Given the description of an element on the screen output the (x, y) to click on. 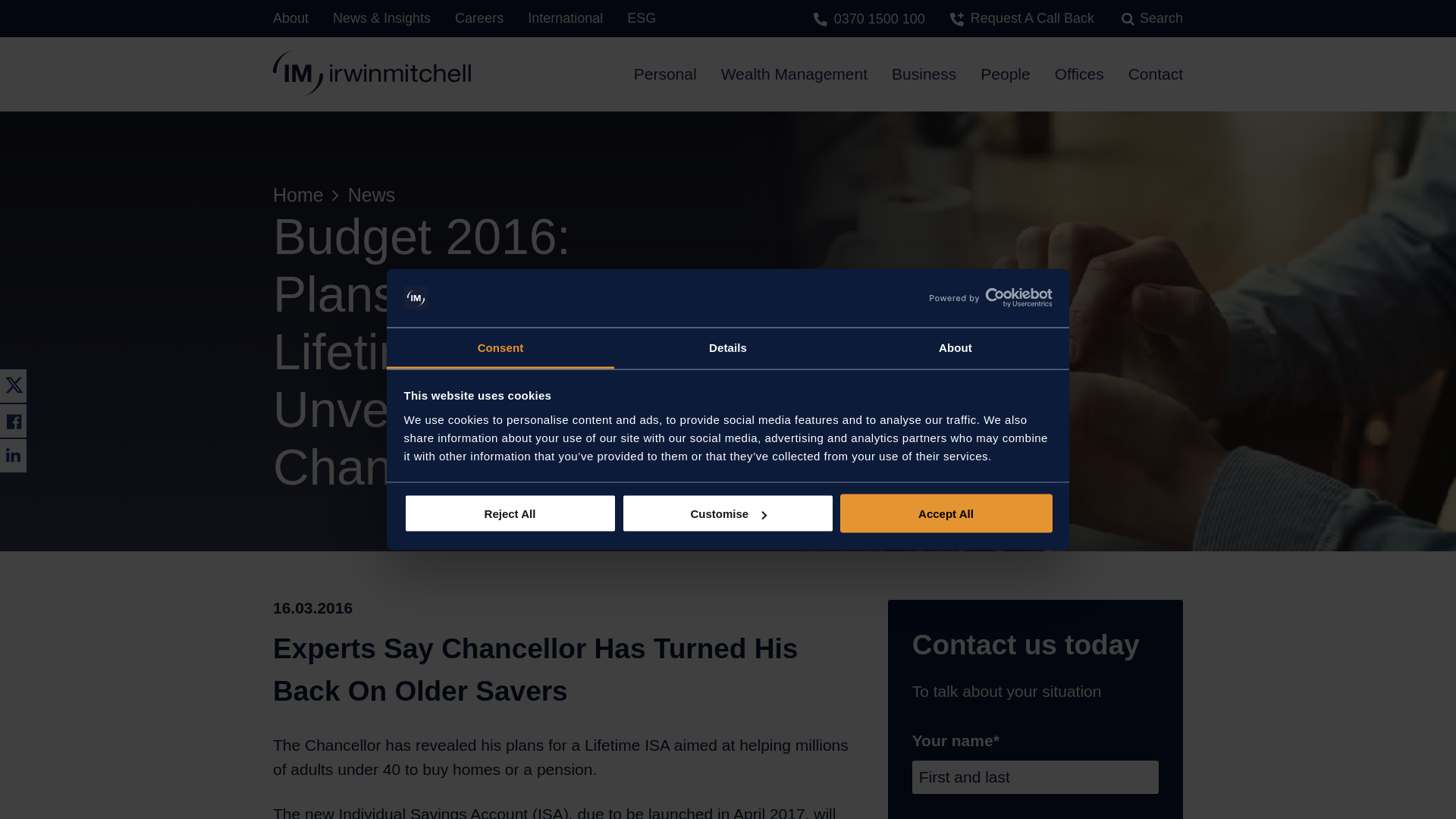
Consent (500, 347)
Details (727, 347)
About (954, 347)
